Given the description of an element on the screen output the (x, y) to click on. 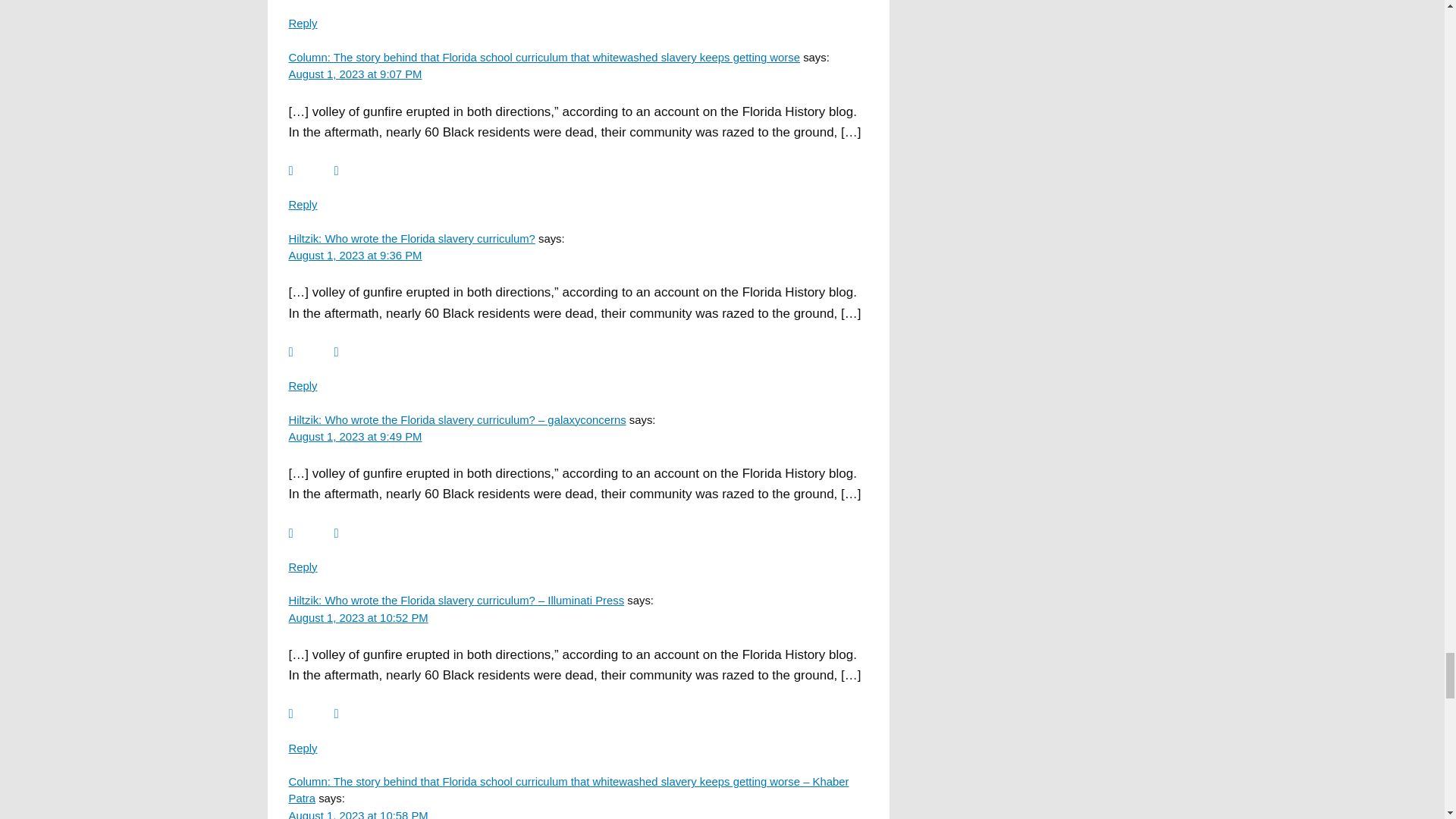
Reply (302, 204)
August 1, 2023 at 9:36 PM (355, 255)
Reply (302, 23)
Hiltzik: Who wrote the Florida slavery curriculum? (411, 238)
August 1, 2023 at 9:07 PM (355, 73)
